Given the description of an element on the screen output the (x, y) to click on. 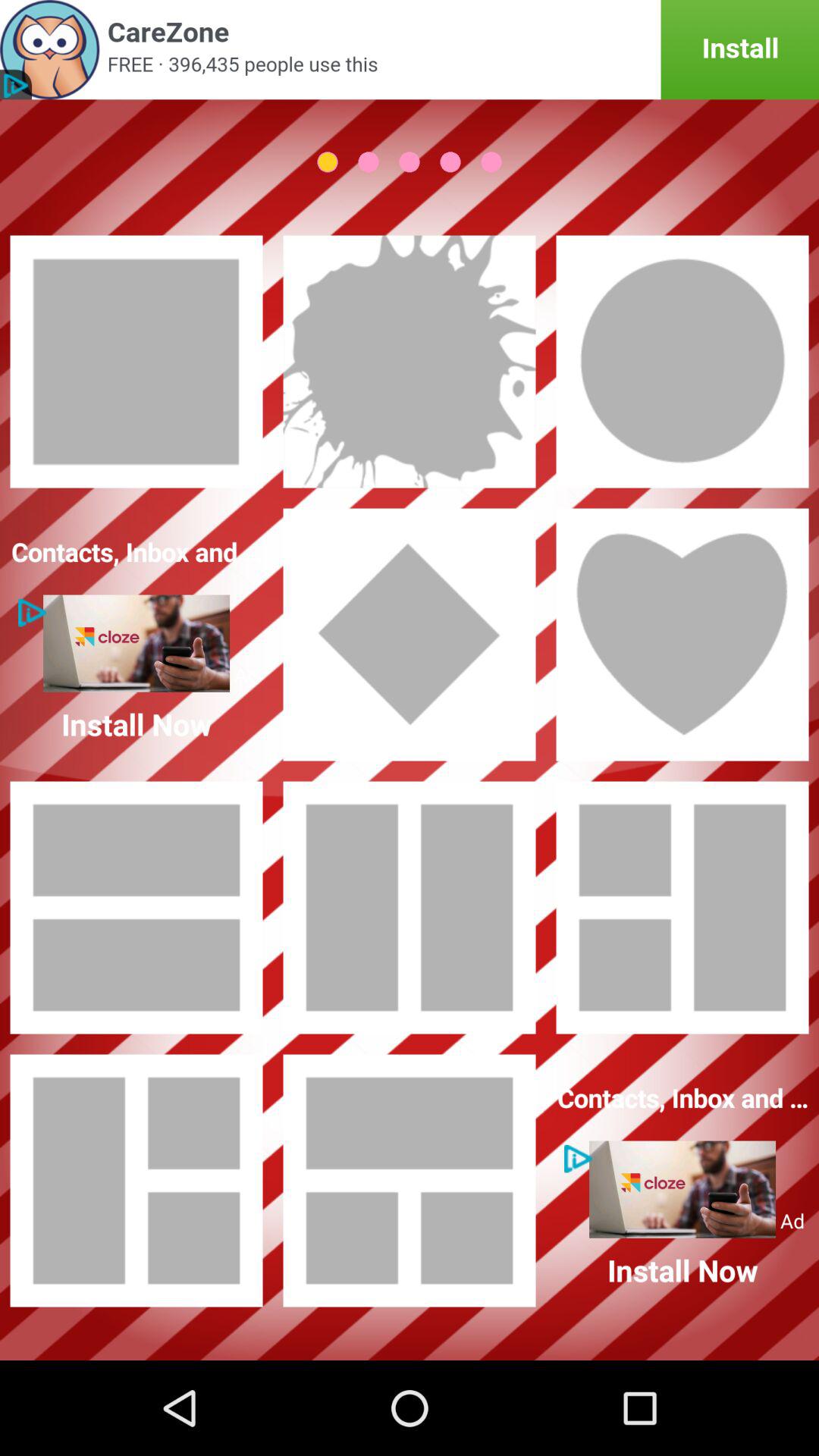
select this layout (409, 634)
